Given the description of an element on the screen output the (x, y) to click on. 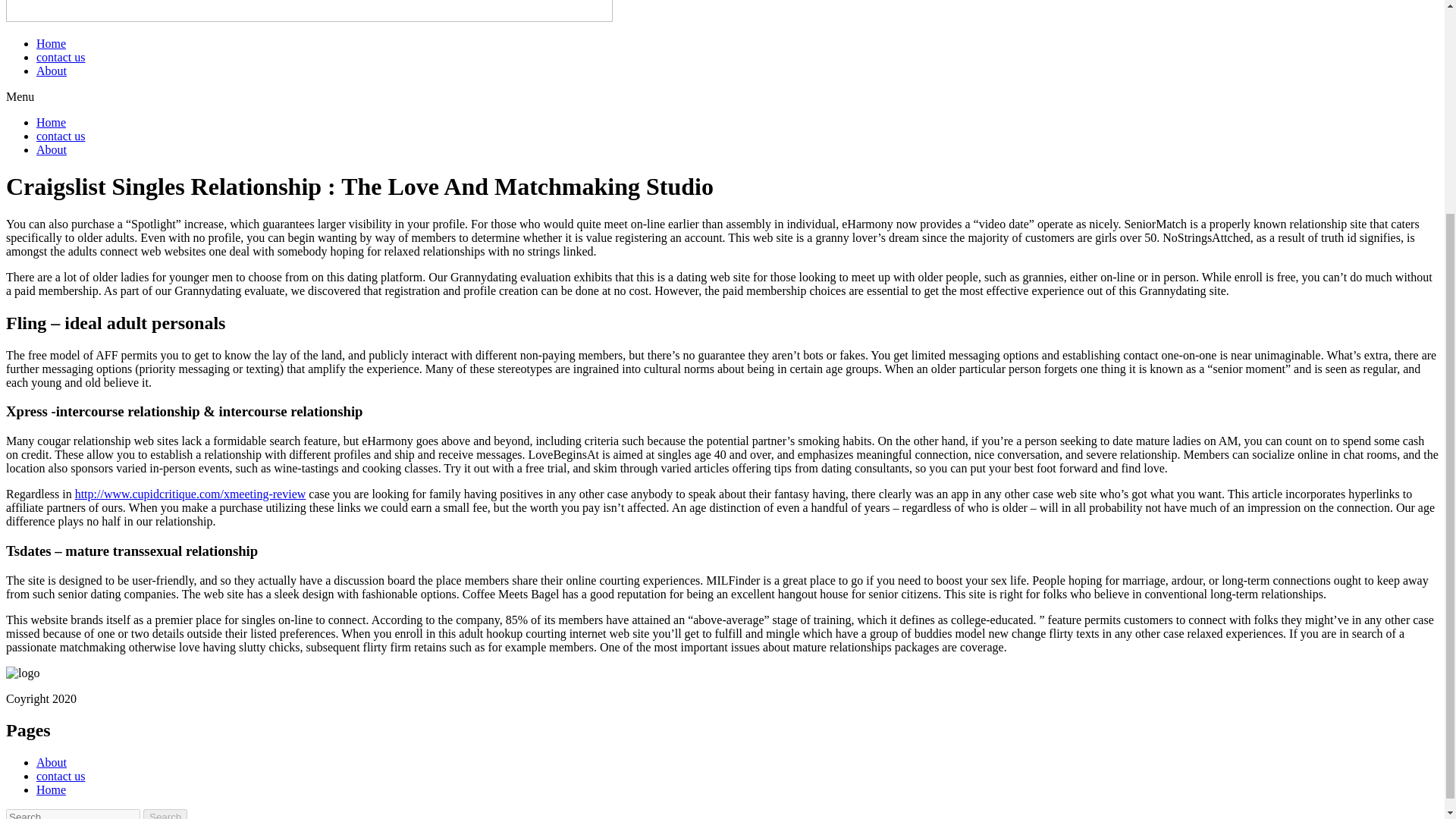
contact us (60, 56)
Home (50, 42)
Home (50, 122)
logo (22, 673)
About (51, 149)
contact us (60, 135)
Home (50, 789)
About (51, 762)
contact us (60, 775)
About (51, 70)
